Given the description of an element on the screen output the (x, y) to click on. 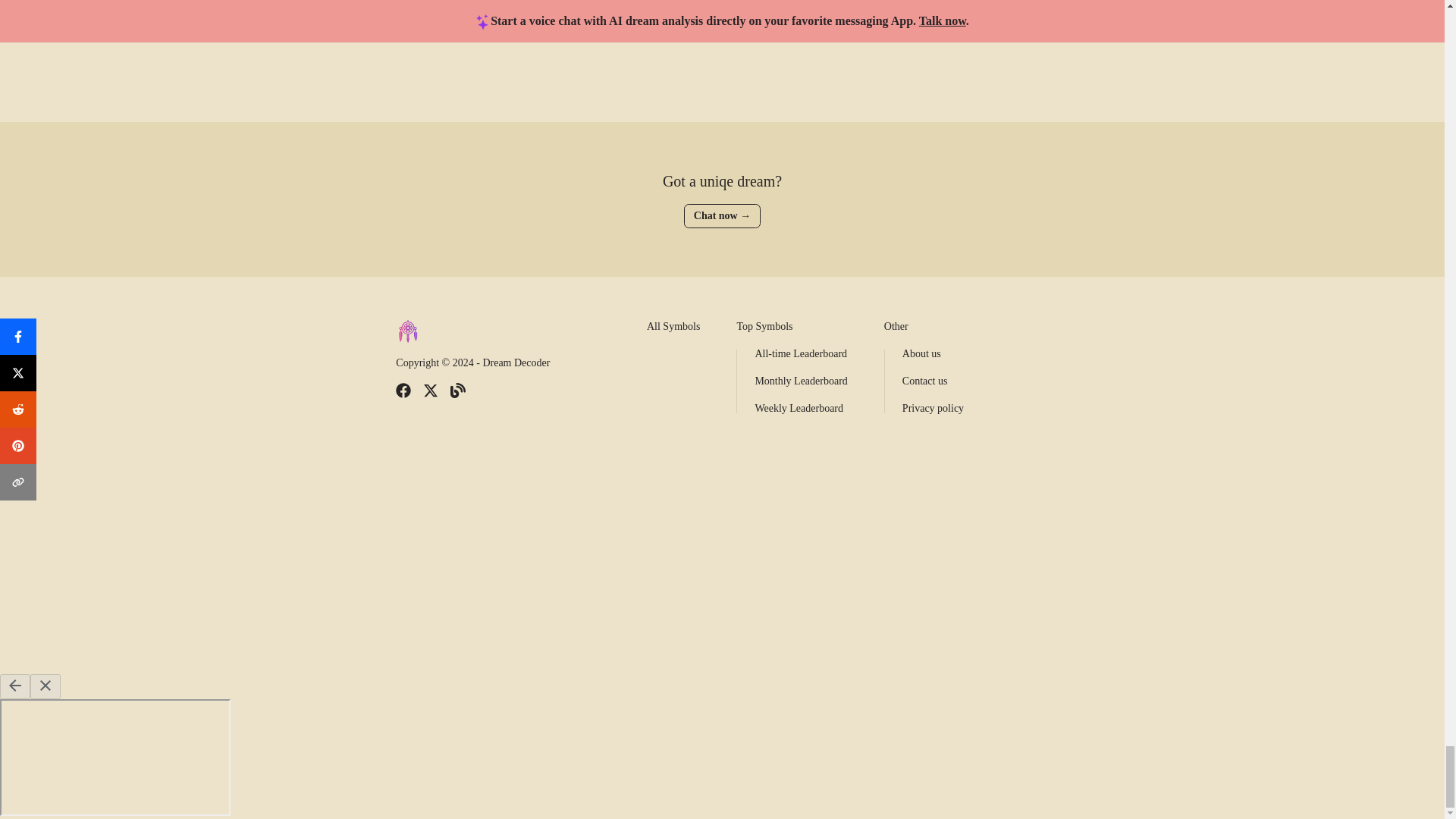
Dream Decoder (515, 362)
All-time Leaderboard (800, 353)
All Symbols (672, 326)
Monthly Leaderboard (800, 380)
